Given the description of an element on the screen output the (x, y) to click on. 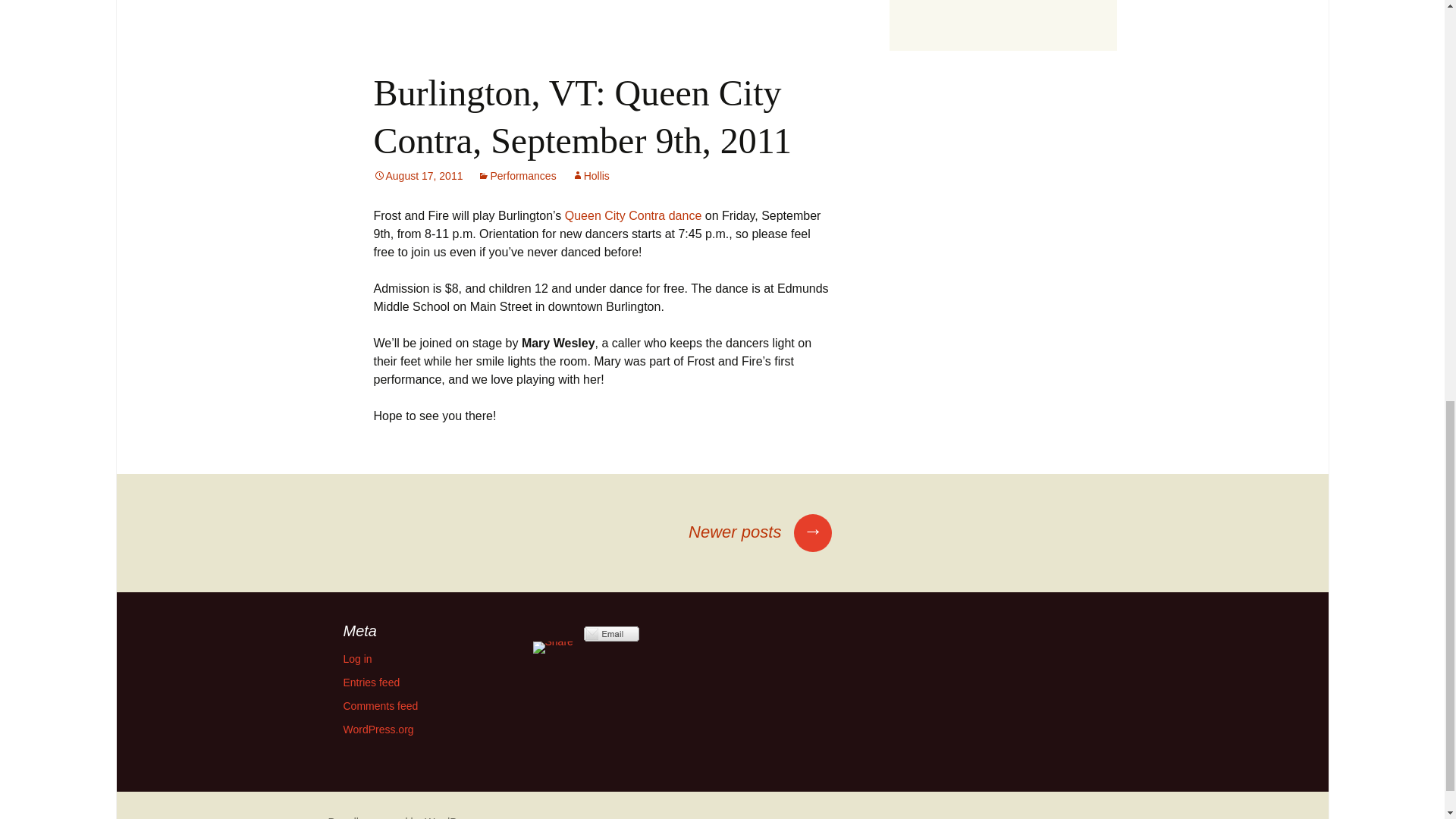
WordPress.org (377, 729)
Burlington, VT: Queen City Contra, September 9th, 2011 (581, 115)
Queen City Contra dance (632, 215)
Queen City Contras (632, 215)
View all posts by Hollis (591, 175)
Comments feed (379, 705)
August 17, 2011 (417, 175)
Share via email (611, 633)
Hollis (591, 175)
Log in (356, 658)
Semantic Personal Publishing Platform (402, 817)
Entries feed (370, 682)
Proudly powered by WordPress (402, 817)
Performances (516, 175)
